Given the description of an element on the screen output the (x, y) to click on. 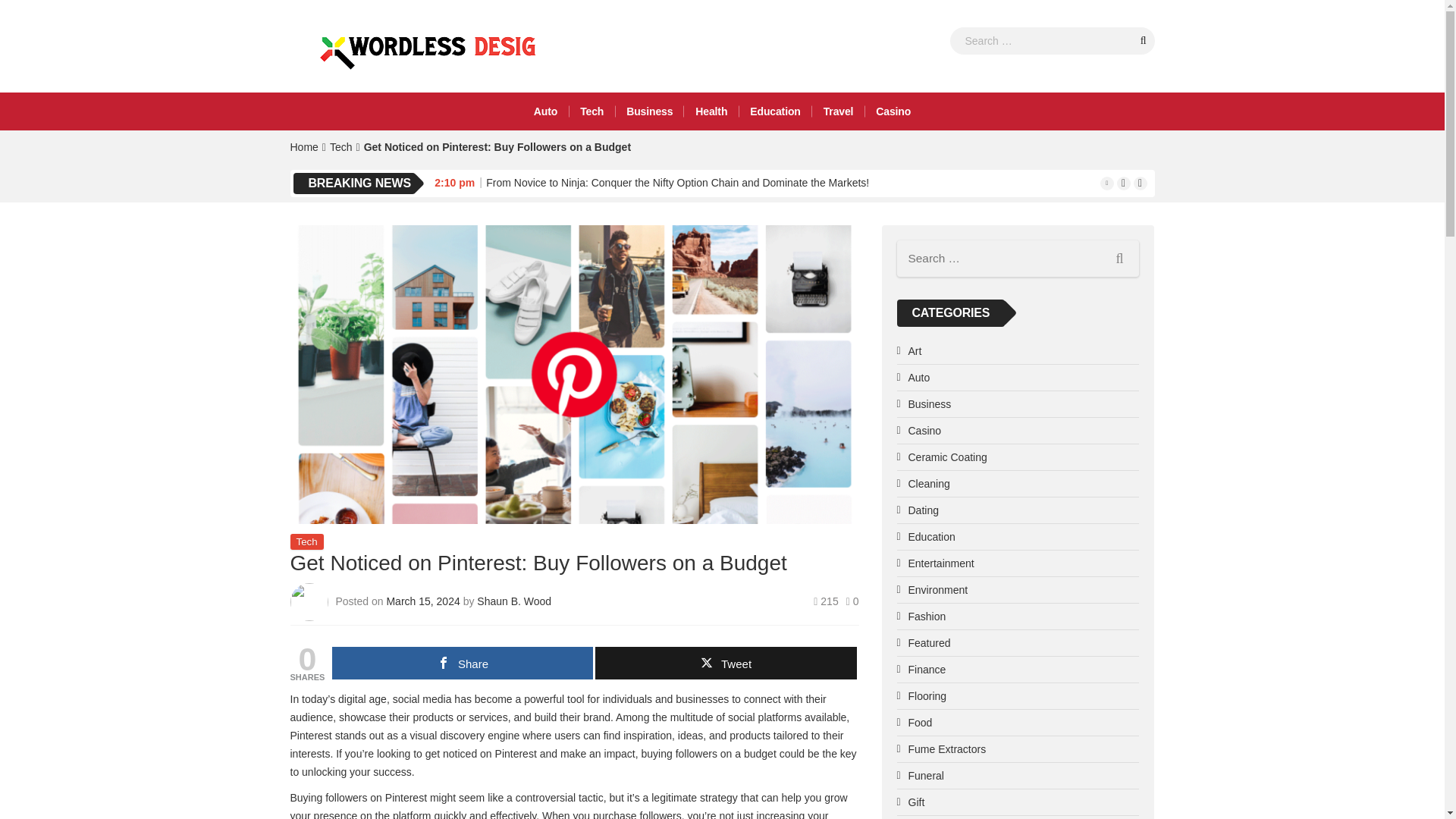
Auto (545, 111)
Search for: (1051, 40)
March 15, 2024 (424, 600)
Casino (892, 111)
Search for: (1017, 258)
Education (774, 111)
Home (303, 146)
Health (711, 111)
Tweet (725, 663)
Home (303, 146)
Travel (838, 111)
Get Noticed on Pinterest: Buy Followers on a Budget (497, 146)
Search (1143, 39)
Tech (306, 541)
